Given the description of an element on the screen output the (x, y) to click on. 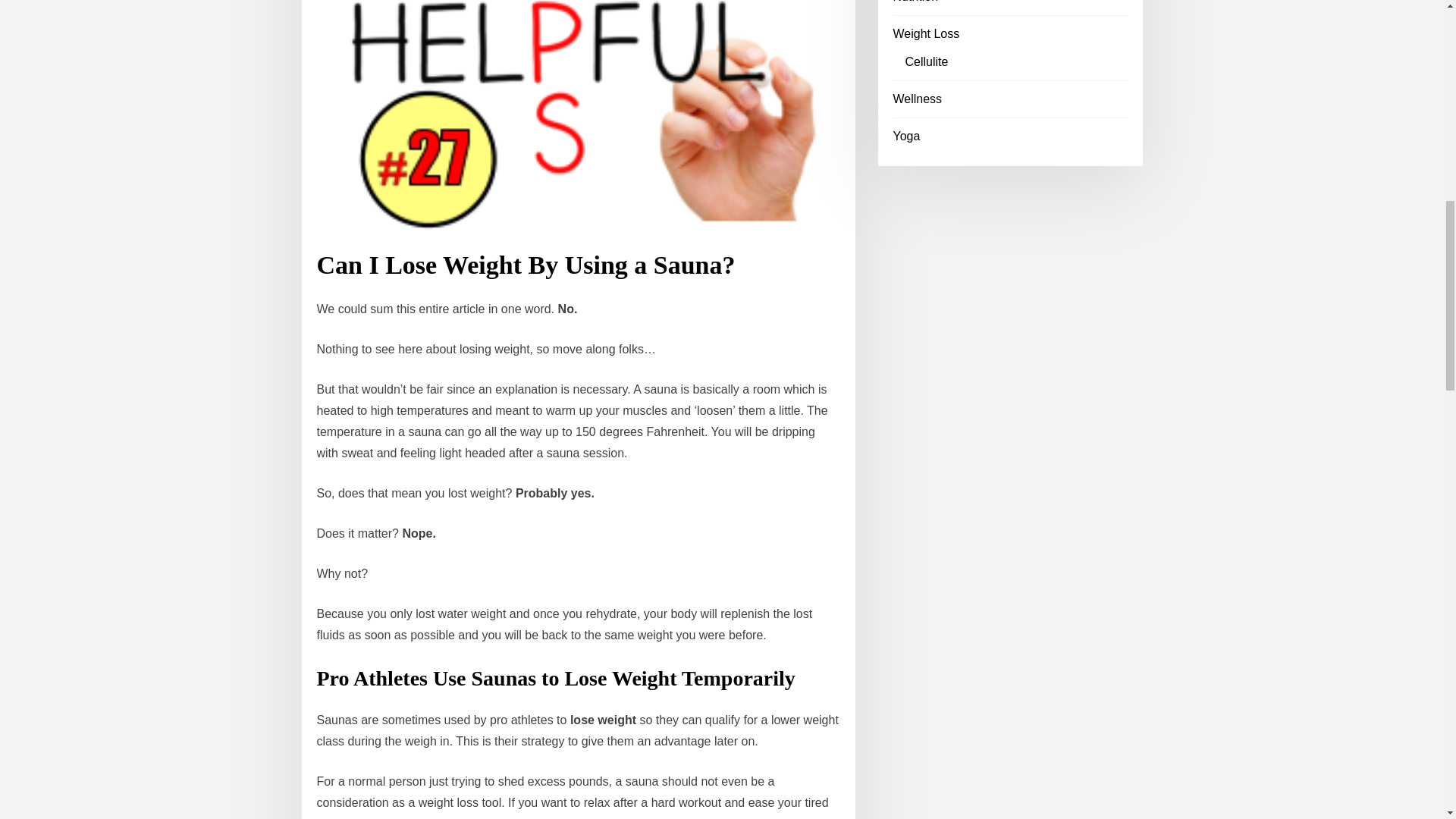
Nutrition (916, 1)
Cellulite (927, 61)
Yoga (906, 135)
Weight Loss (926, 33)
Wellness (917, 98)
